Given the description of an element on the screen output the (x, y) to click on. 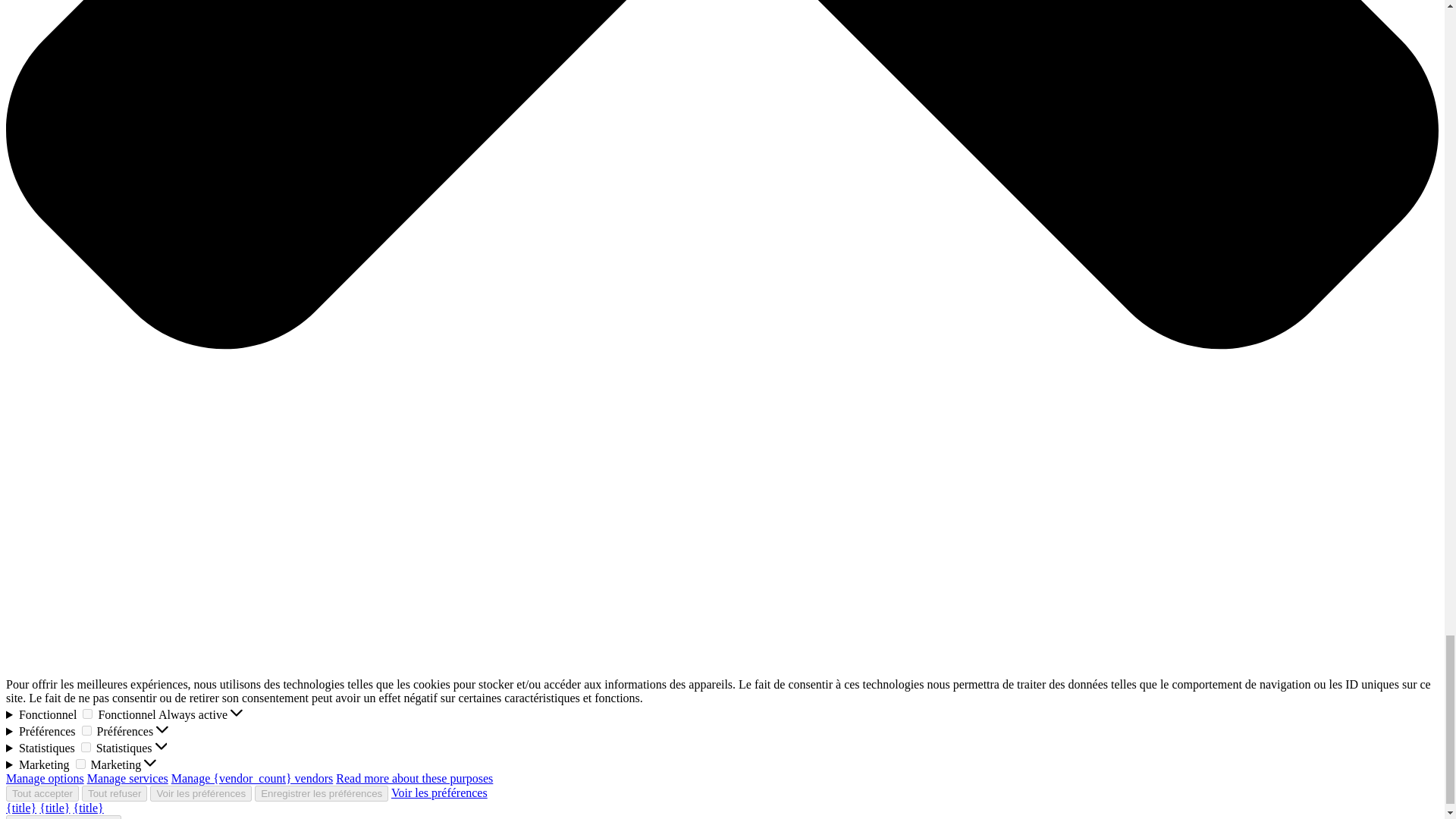
1 (87, 714)
1 (80, 764)
1 (86, 730)
1 (85, 747)
